Given the description of an element on the screen output the (x, y) to click on. 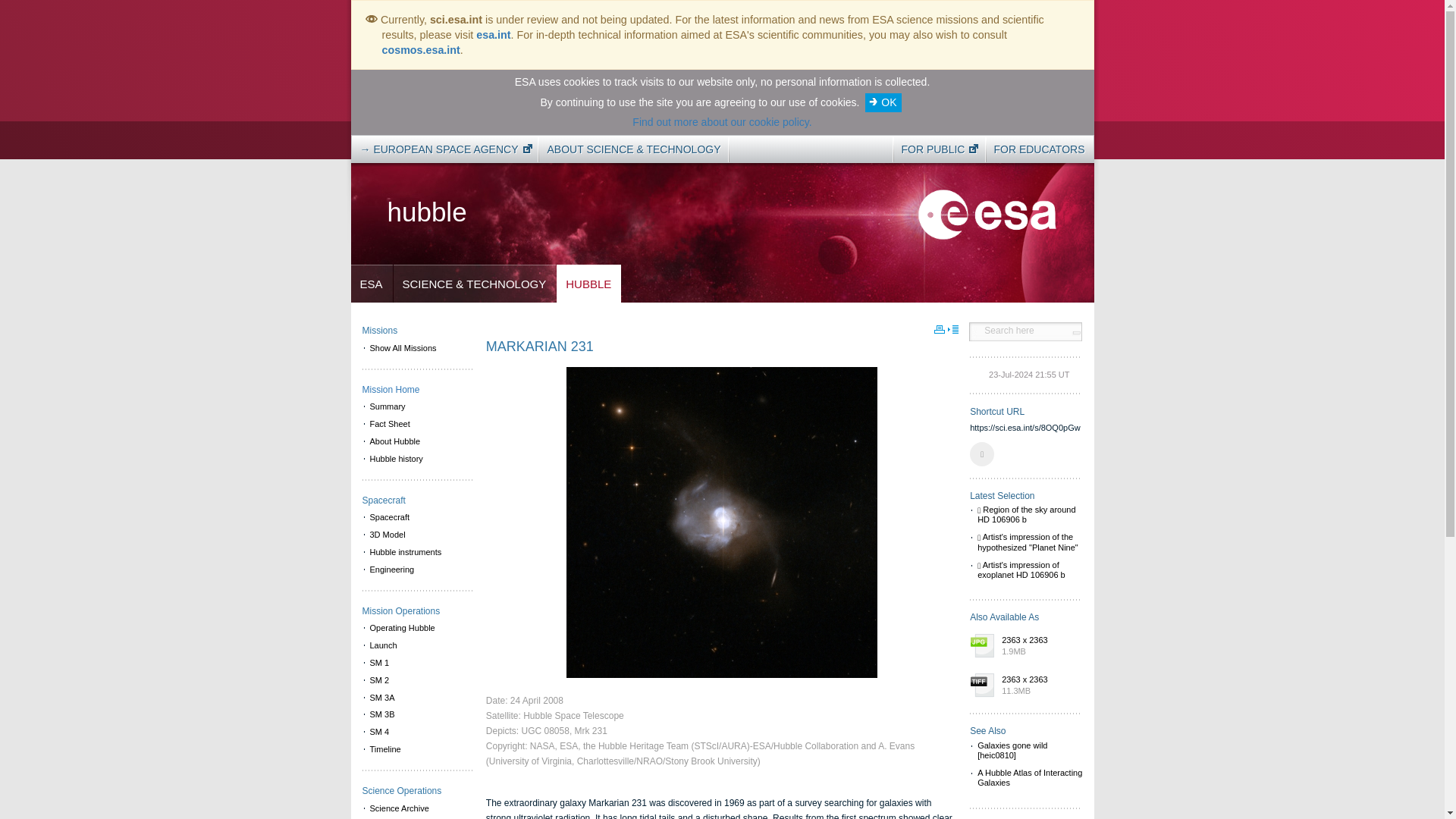
cosmos.esa.int (420, 50)
Find out more about our cookie policy. (720, 121)
OK (882, 102)
FOR PUBLIC (935, 148)
esa.int (493, 34)
ESA (370, 283)
FOR EDUCATORS (1039, 148)
